Given the description of an element on the screen output the (x, y) to click on. 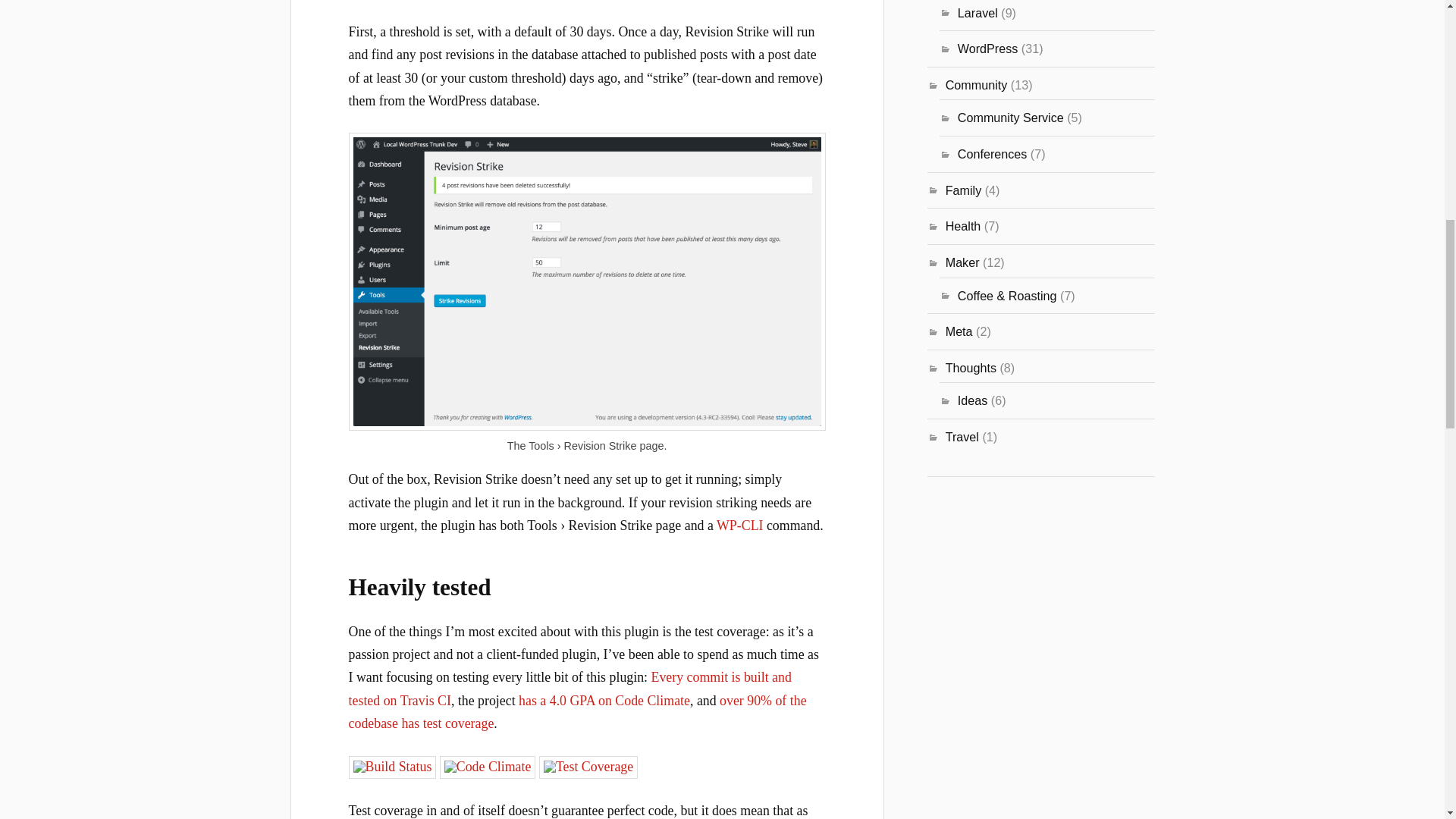
WP-CLI (739, 525)
Every commit is built and tested on Travis CI (570, 688)
WordPress Command-Line Interface (739, 525)
WordPress (987, 48)
Laravel (977, 12)
has a 4.0 GPA on Code Climate (604, 700)
